Given the description of an element on the screen output the (x, y) to click on. 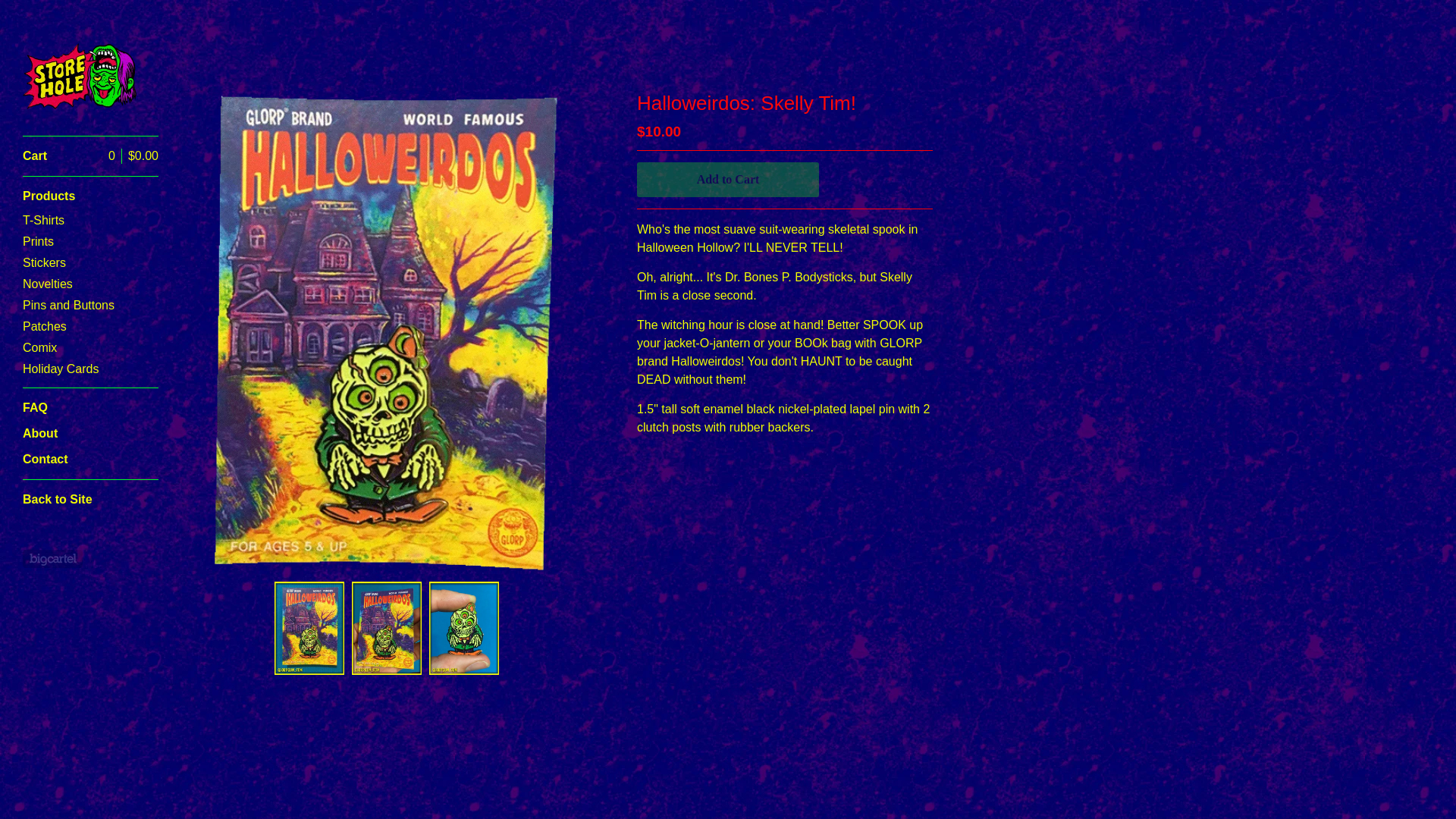
Products (90, 196)
Stickers (90, 261)
Powered by Big Cartel (52, 557)
Patches (90, 325)
Contact (90, 458)
About (90, 433)
Add to Cart (727, 179)
Prints (90, 240)
Store Hole! (79, 75)
T-Shirts (90, 219)
